Given the description of an element on the screen output the (x, y) to click on. 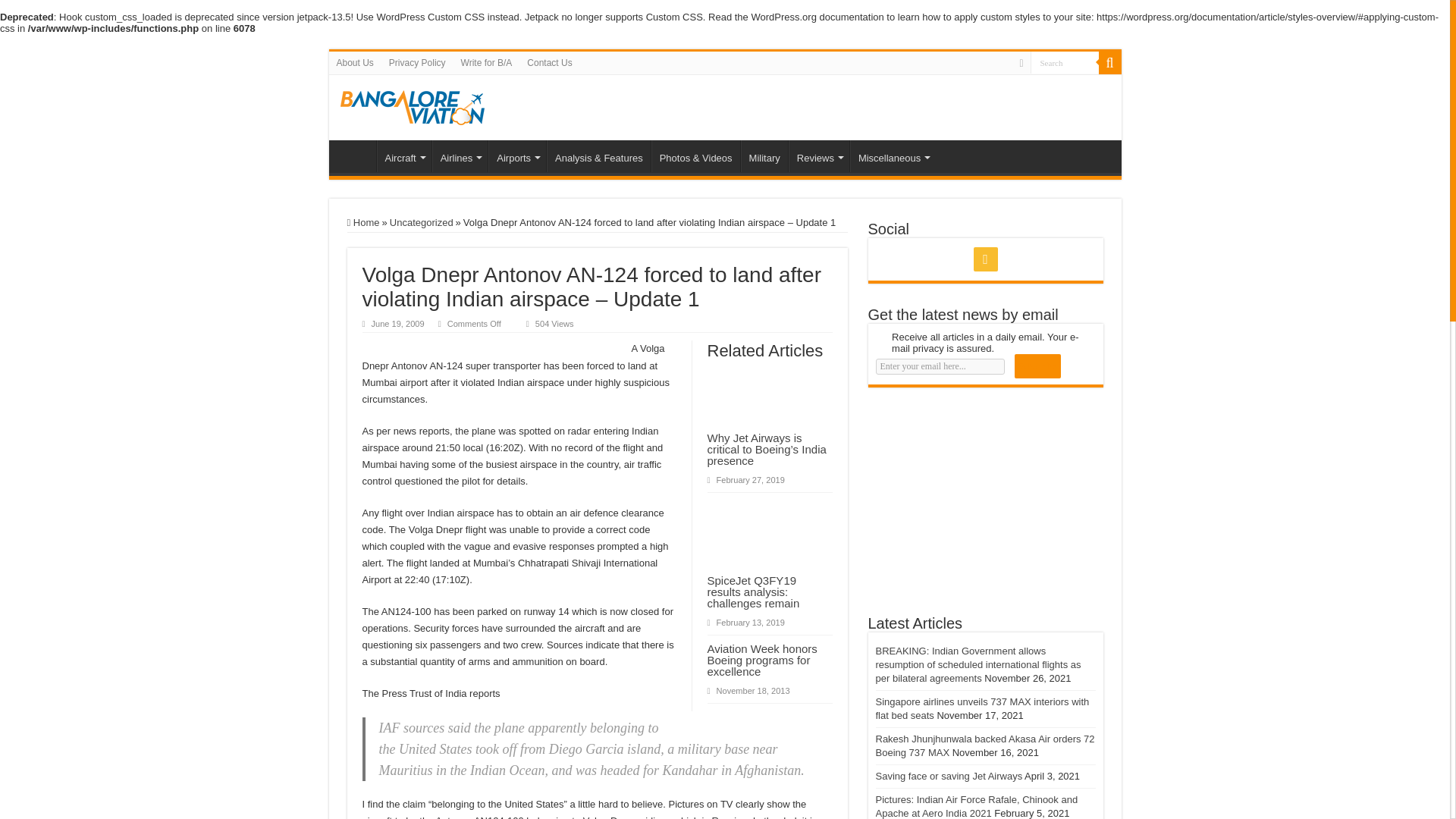
Search (1063, 62)
Subscribe (1037, 365)
Airports (516, 155)
Aircraft (402, 155)
Search (1063, 62)
Home (355, 155)
Bangalore Aviation (411, 104)
Search (1109, 62)
Enter your email here... (939, 366)
Airlines (459, 155)
